Given the description of an element on the screen output the (x, y) to click on. 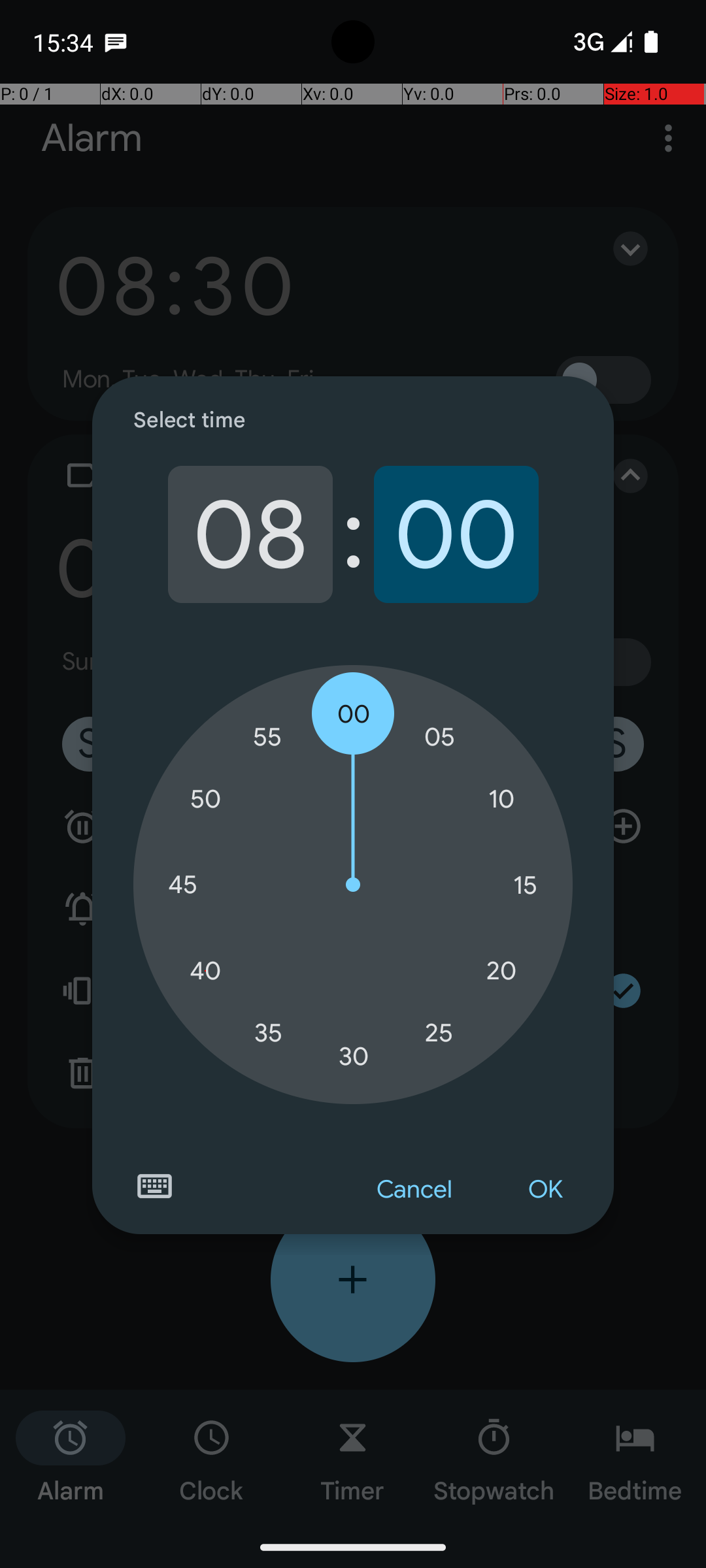
08 Element type: android.view.View (250, 534)
00 Element type: android.view.View (455, 534)
Switch to text input mode for the time input. Element type: android.widget.Button (154, 1186)
Cancel Element type: android.widget.Button (414, 1189)
OK Element type: android.widget.Button (545, 1189)
55 Element type: android.widget.TextView (267, 736)
50 Element type: android.widget.TextView (205, 798)
05 Element type: android.widget.TextView (439, 736)
10 Element type: android.widget.TextView (501, 798)
45 Element type: android.widget.TextView (182, 884)
15 Element type: android.widget.TextView (524, 885)
40 Element type: android.widget.TextView (205, 970)
35 Element type: android.widget.TextView (267, 1032)
30 Element type: android.widget.TextView (353, 1056)
25 Element type: android.widget.TextView (438, 1032)
20 Element type: android.widget.TextView (501, 970)
SMS Messenger notification: Petar Gonzalez Element type: android.widget.ImageView (115, 41)
